Given the description of an element on the screen output the (x, y) to click on. 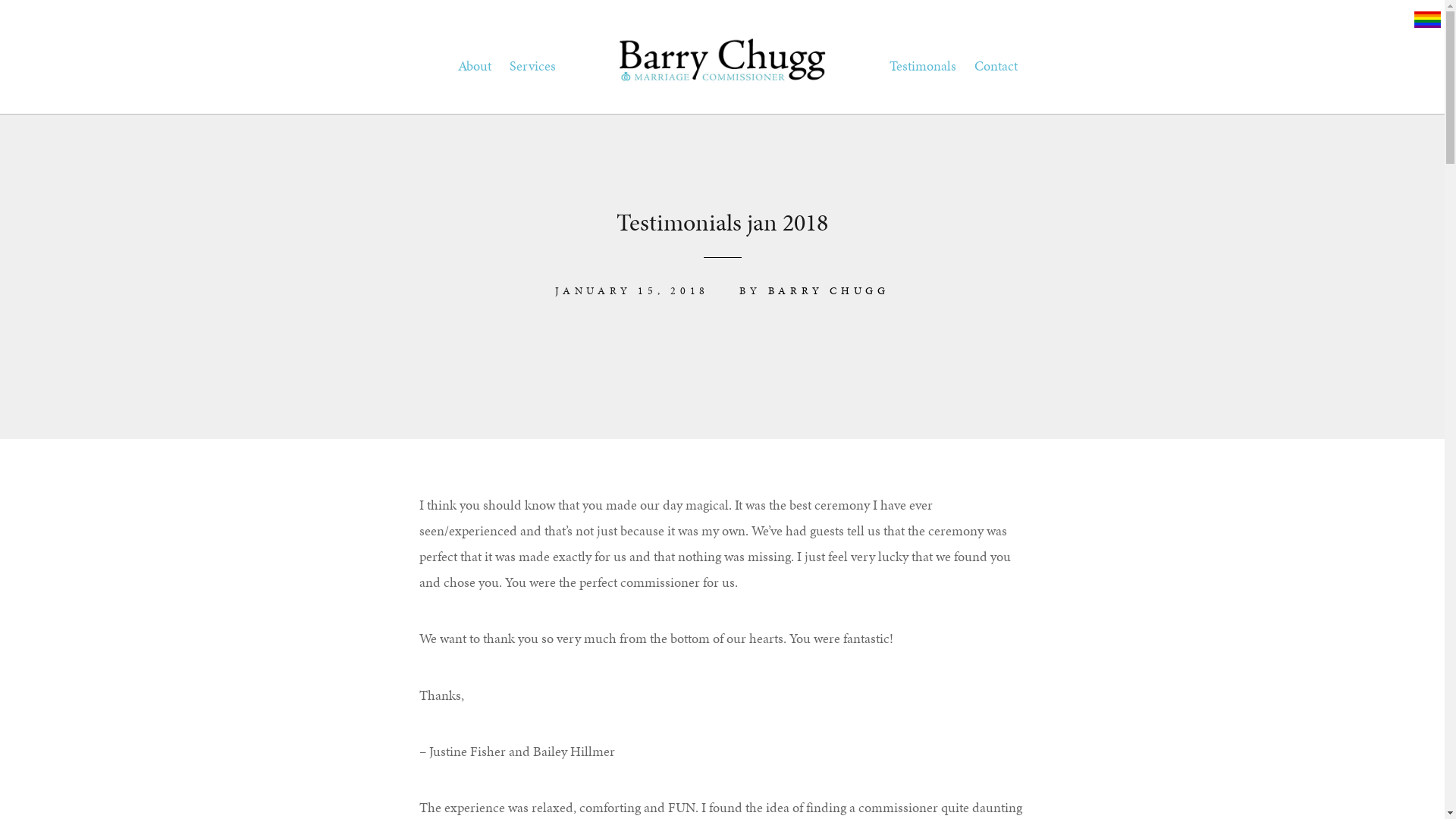
Search Element type: text (33, 21)
Services Element type: text (532, 65)
BARRY CHUGG Element type: text (828, 290)
Testimonals Element type: text (921, 65)
About Element type: text (474, 65)
Contact Element type: text (994, 65)
